Given the description of an element on the screen output the (x, y) to click on. 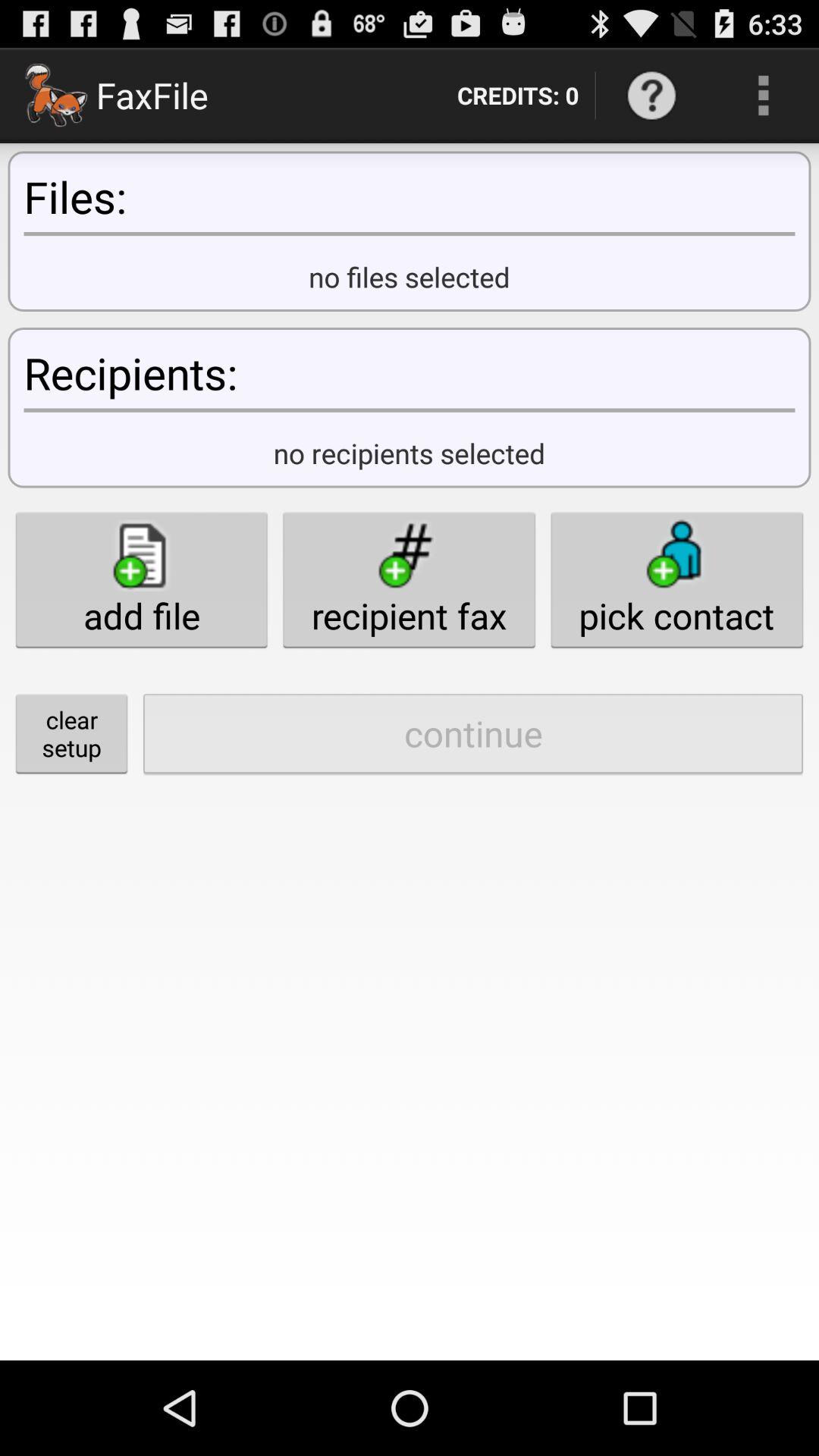
turn on item next to faxfile app (517, 95)
